Given the description of an element on the screen output the (x, y) to click on. 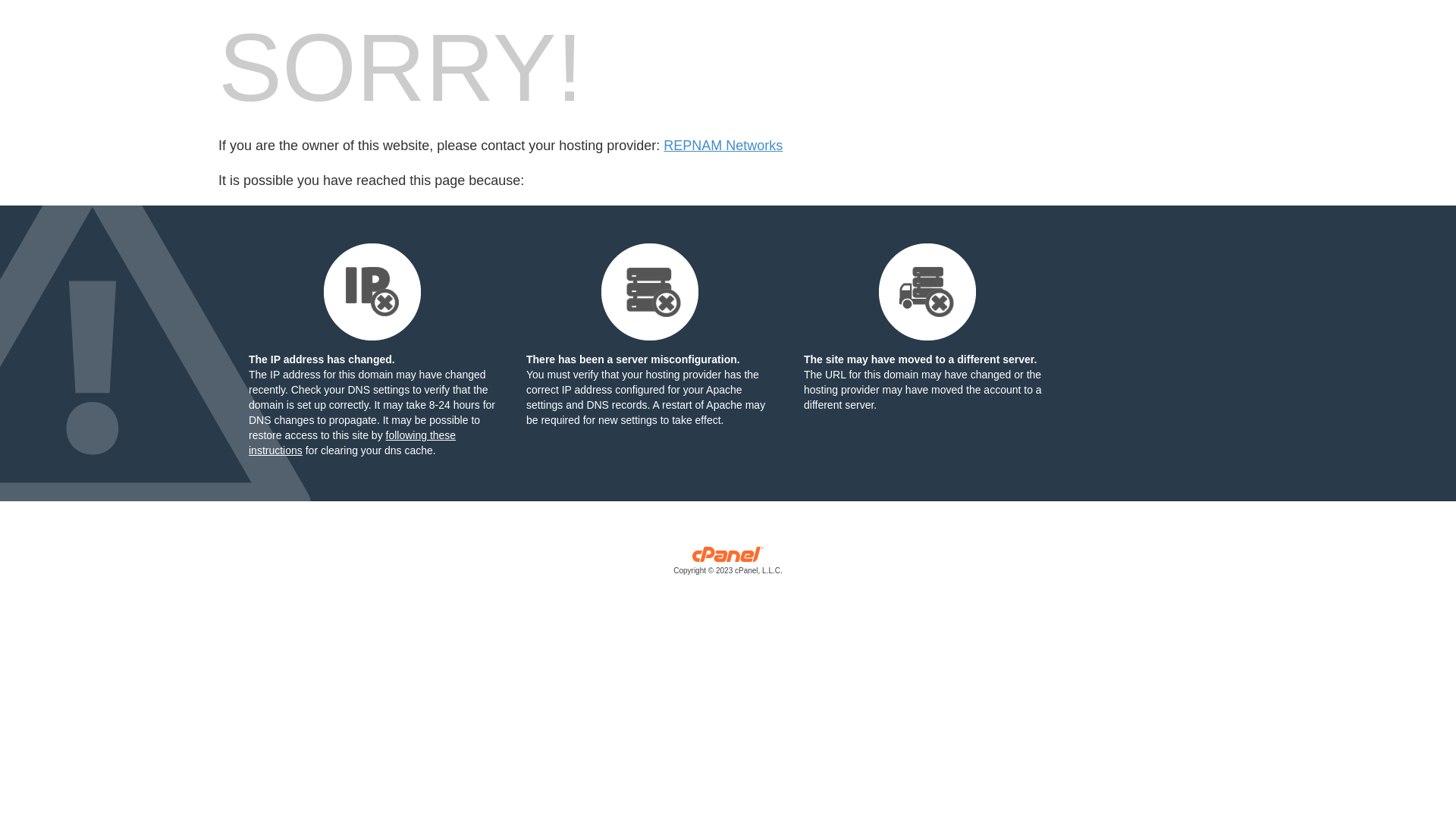
REPNAM Networks Element type: text (722, 145)
following these instructions Element type: text (351, 442)
